Given the description of an element on the screen output the (x, y) to click on. 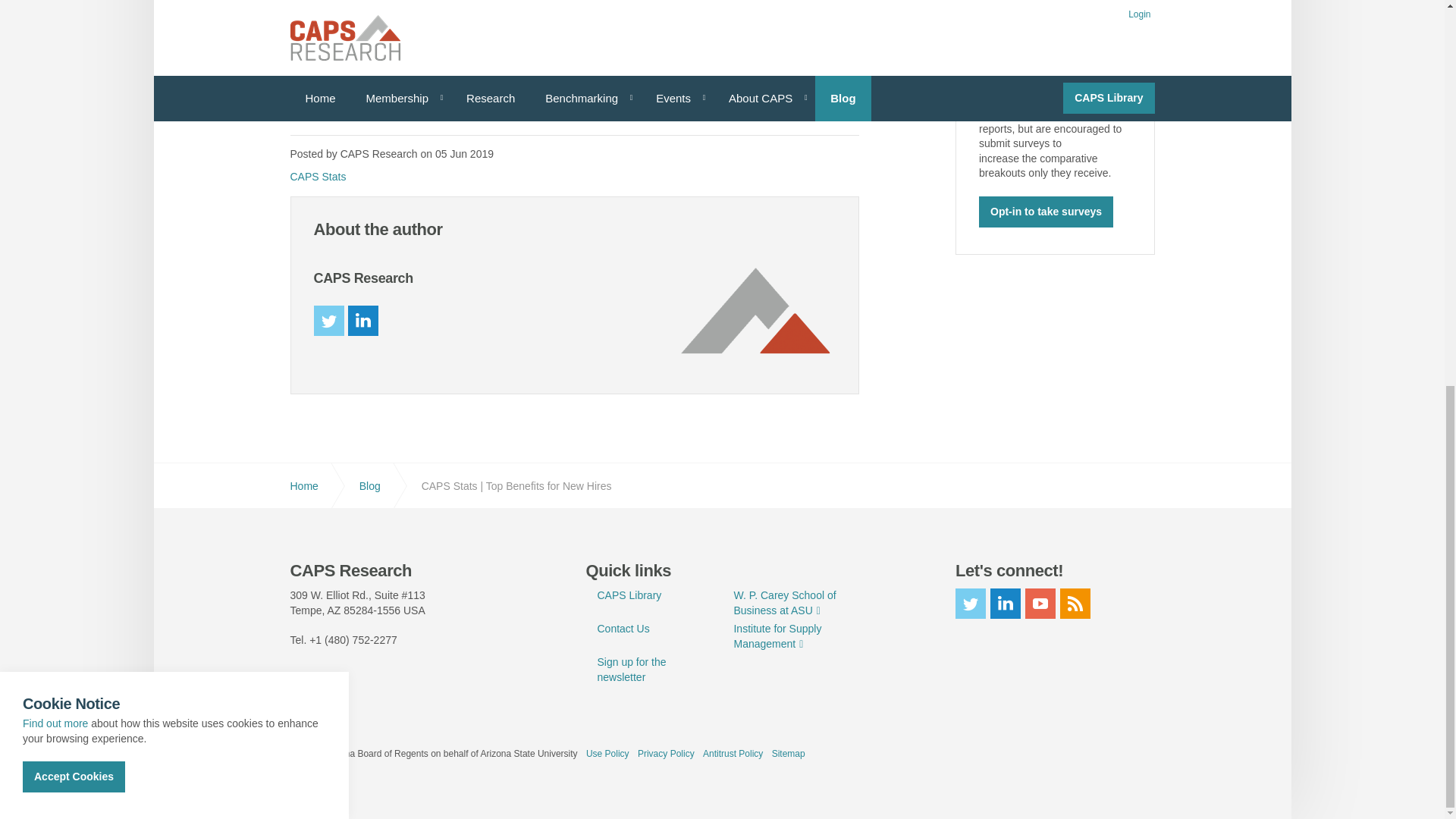
linkedin (362, 320)
CAPS Stats (317, 176)
twitter (328, 320)
Privacy Policy (55, 0)
CAPS Stats (317, 176)
